Given the description of an element on the screen output the (x, y) to click on. 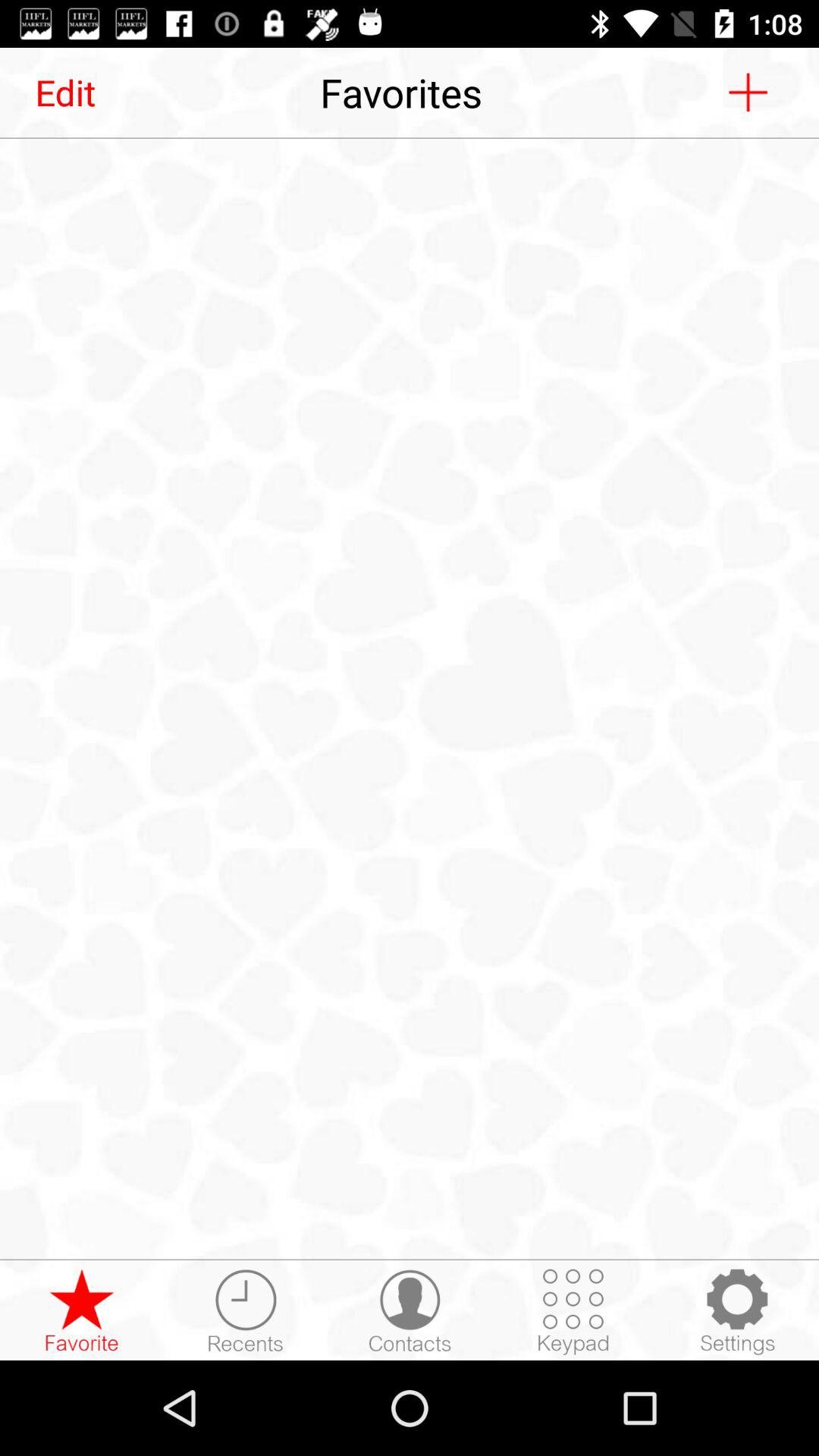
open list of contacts (409, 1311)
